Given the description of an element on the screen output the (x, y) to click on. 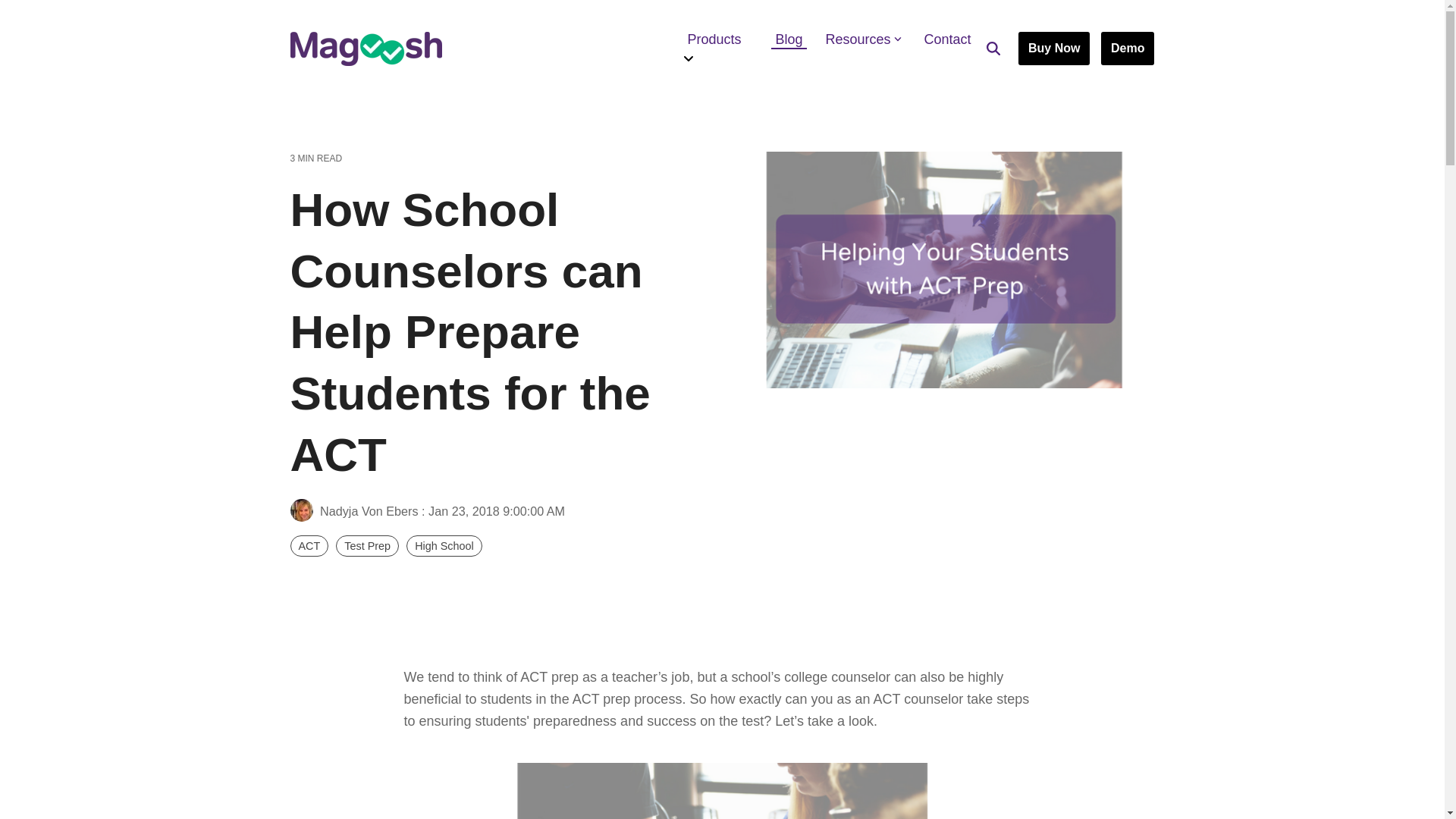
Buy Now (1053, 48)
Blog (788, 39)
Products (718, 39)
Demo (1127, 48)
Resources (863, 39)
